Given the description of an element on the screen output the (x, y) to click on. 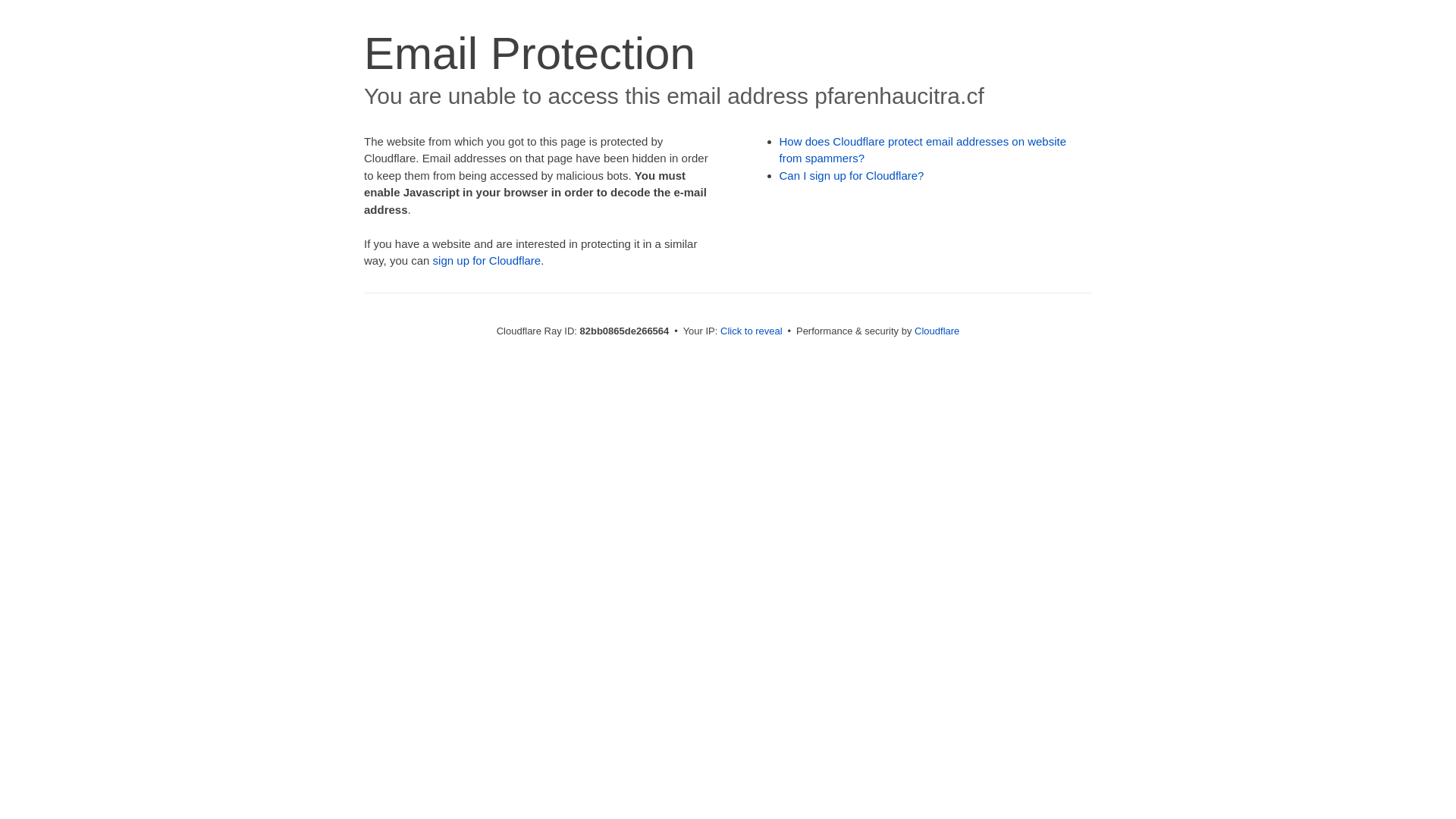
Can I sign up for Cloudflare? Element type: text (851, 175)
Click to reveal Element type: text (751, 330)
Cloudflare Element type: text (936, 330)
sign up for Cloudflare Element type: text (487, 260)
